Given the description of an element on the screen output the (x, y) to click on. 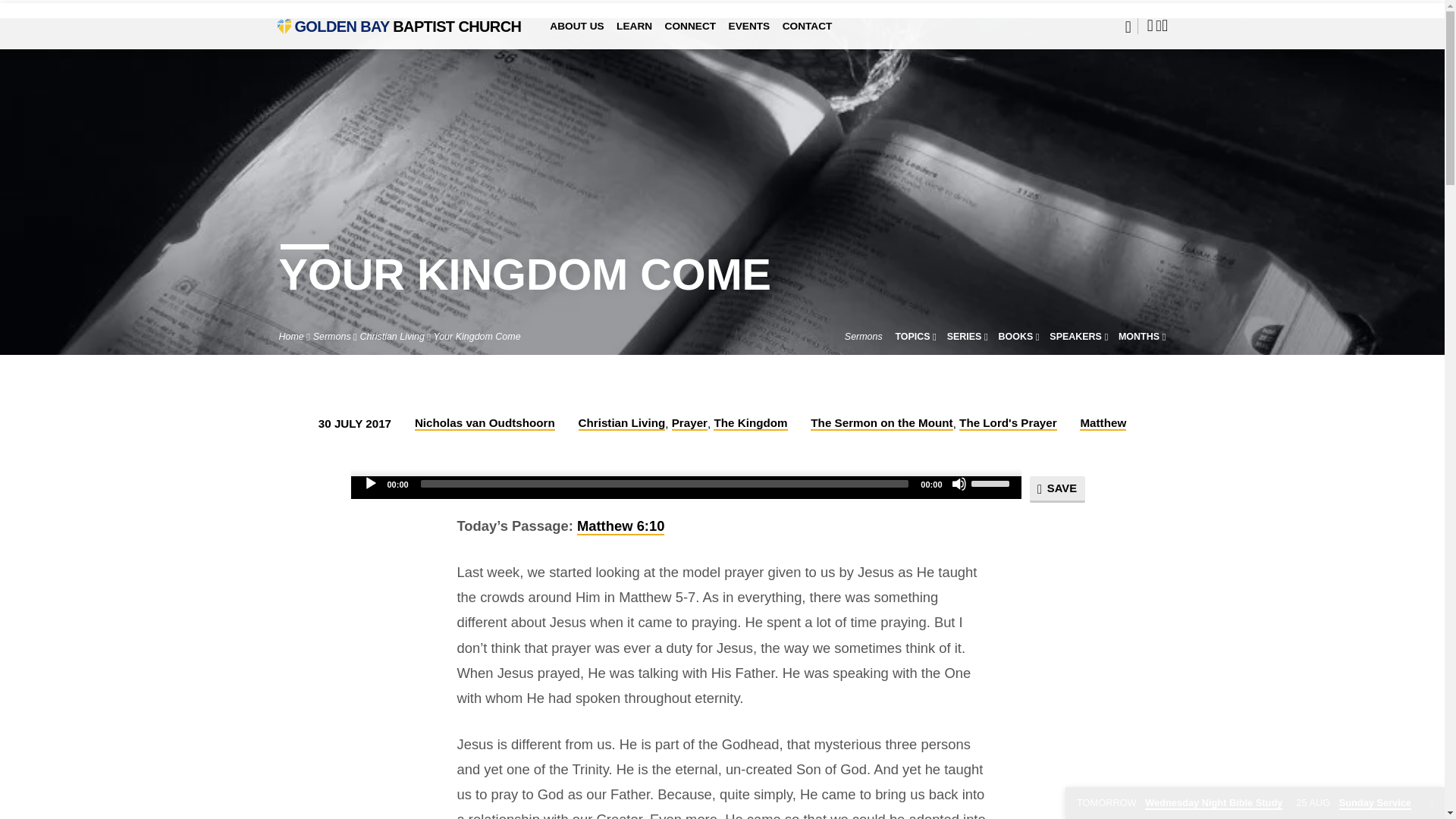
Sermons (863, 336)
CONTACT (807, 35)
Christian Living (392, 336)
LEARN (633, 35)
Play (369, 483)
SPEAKERS (1078, 336)
SERIES (967, 336)
TOPICS (915, 336)
MONTHS (1142, 336)
BOOKS (1018, 336)
